Given the description of an element on the screen output the (x, y) to click on. 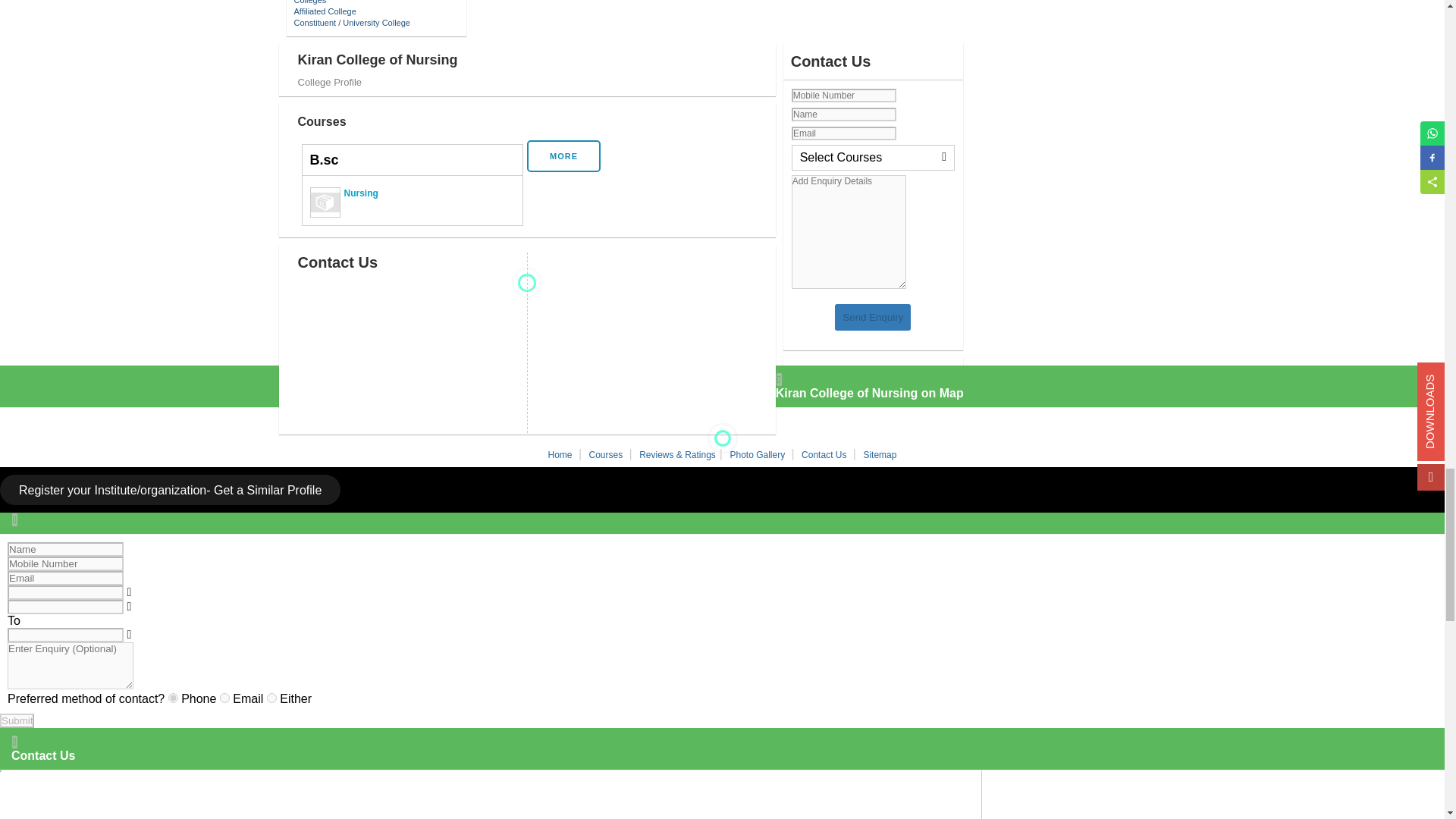
Nursing (411, 200)
